Given the description of an element on the screen output the (x, y) to click on. 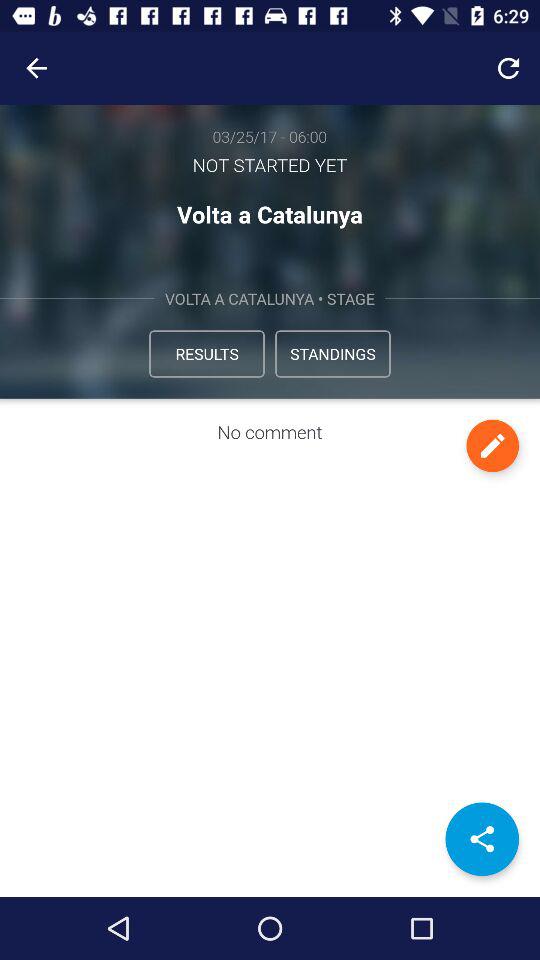
scroll until the standings icon (332, 353)
